Given the description of an element on the screen output the (x, y) to click on. 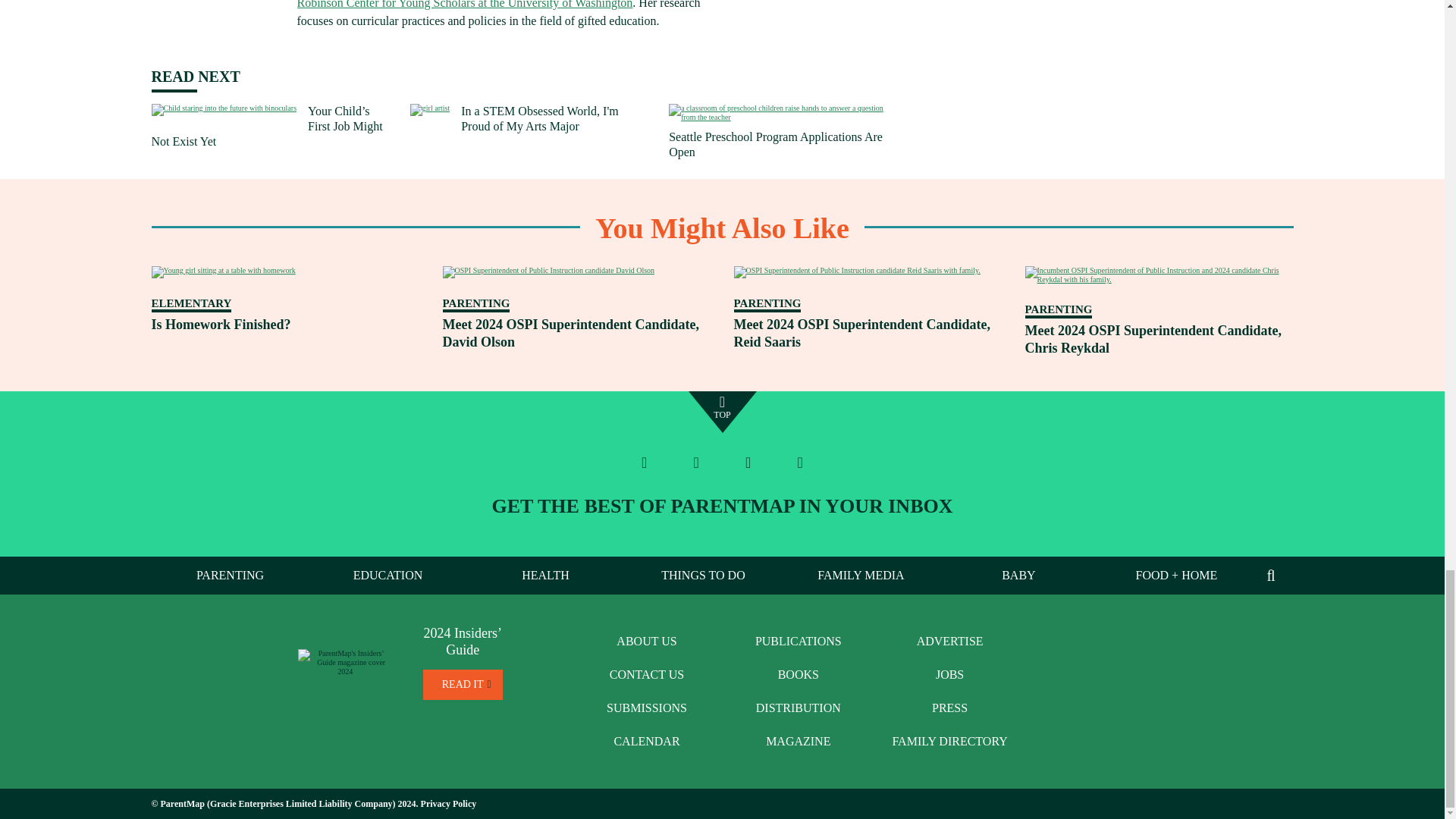
Find us on Facebook! (643, 461)
